Given the description of an element on the screen output the (x, y) to click on. 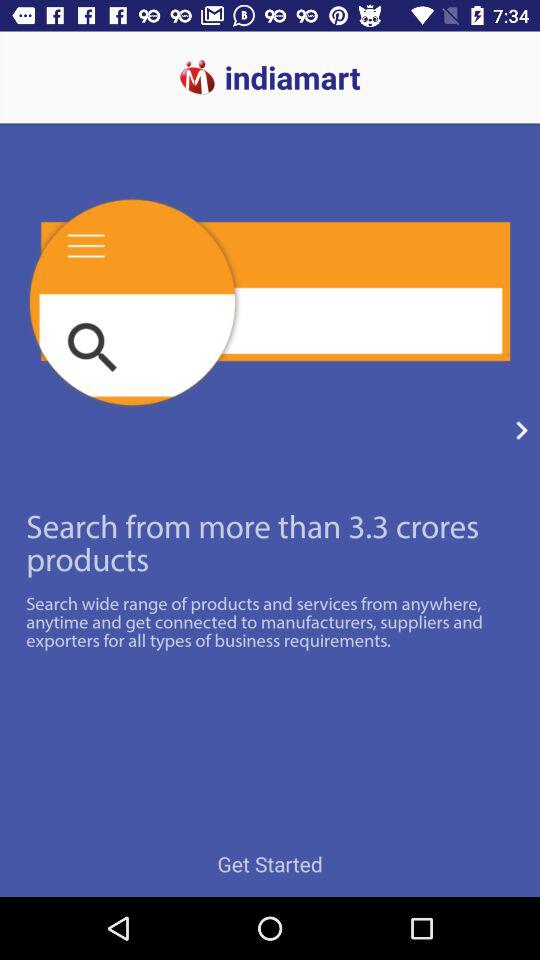
go to next (521, 430)
